Given the description of an element on the screen output the (x, y) to click on. 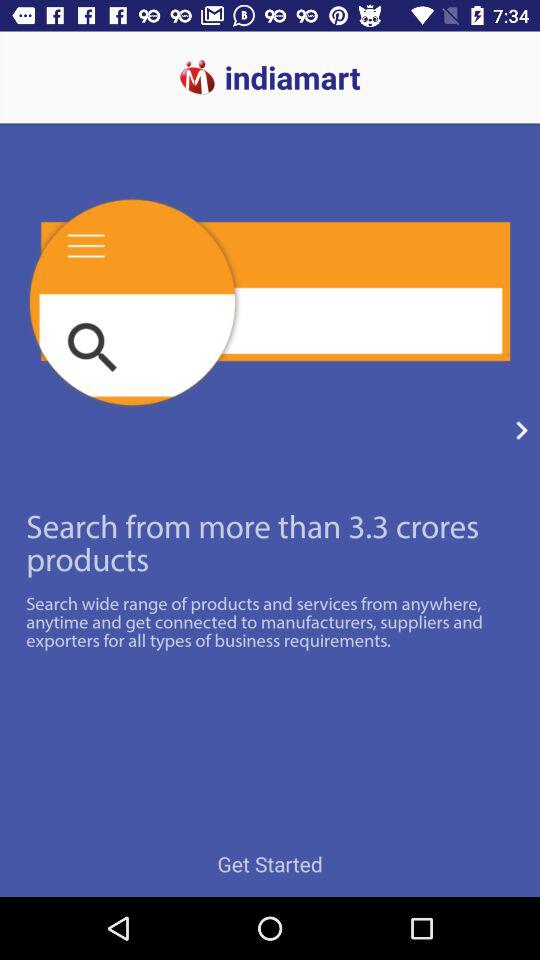
go to next (521, 430)
